Given the description of an element on the screen output the (x, y) to click on. 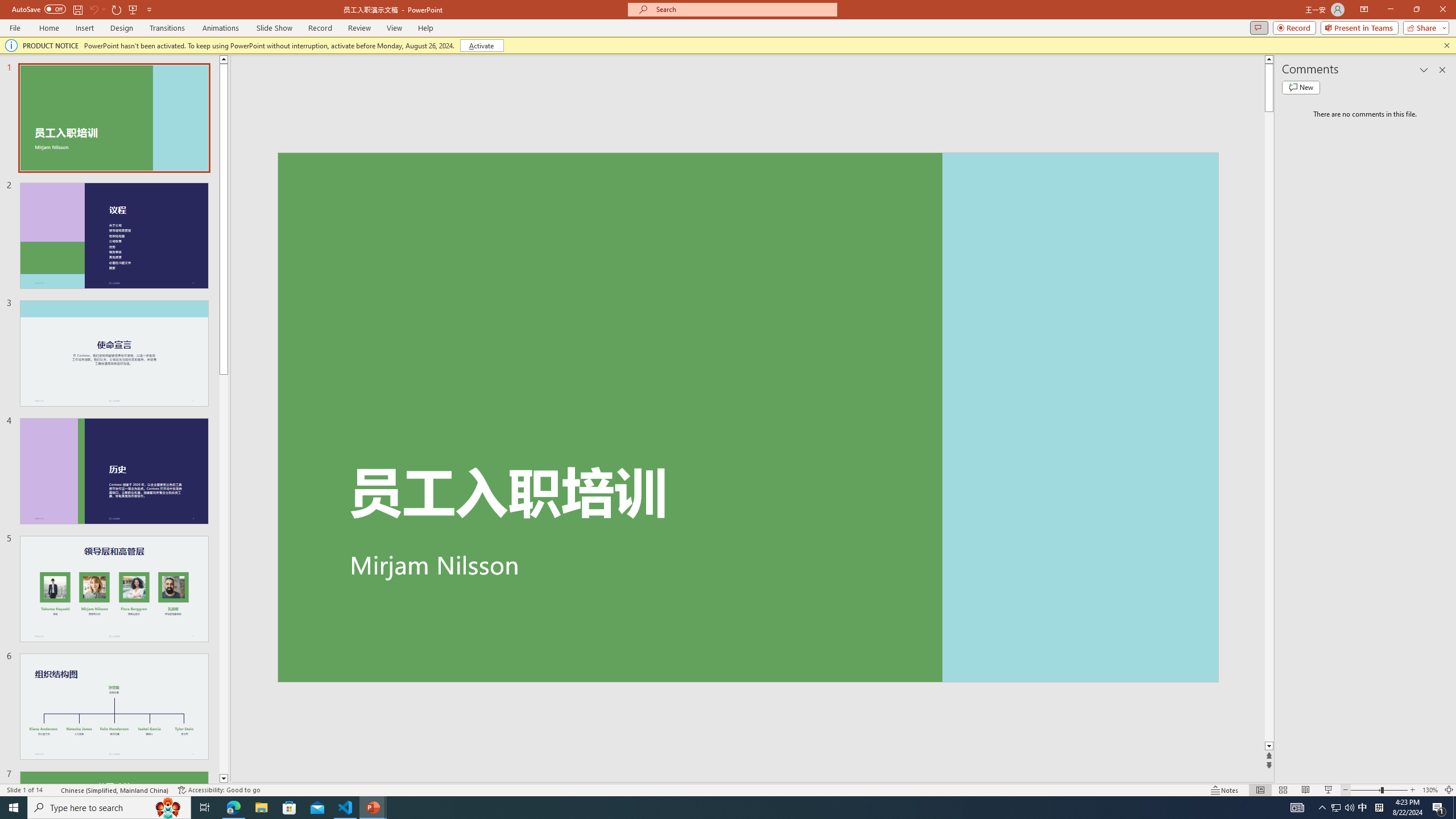
Spell Check  (52, 790)
